Given the description of an element on the screen output the (x, y) to click on. 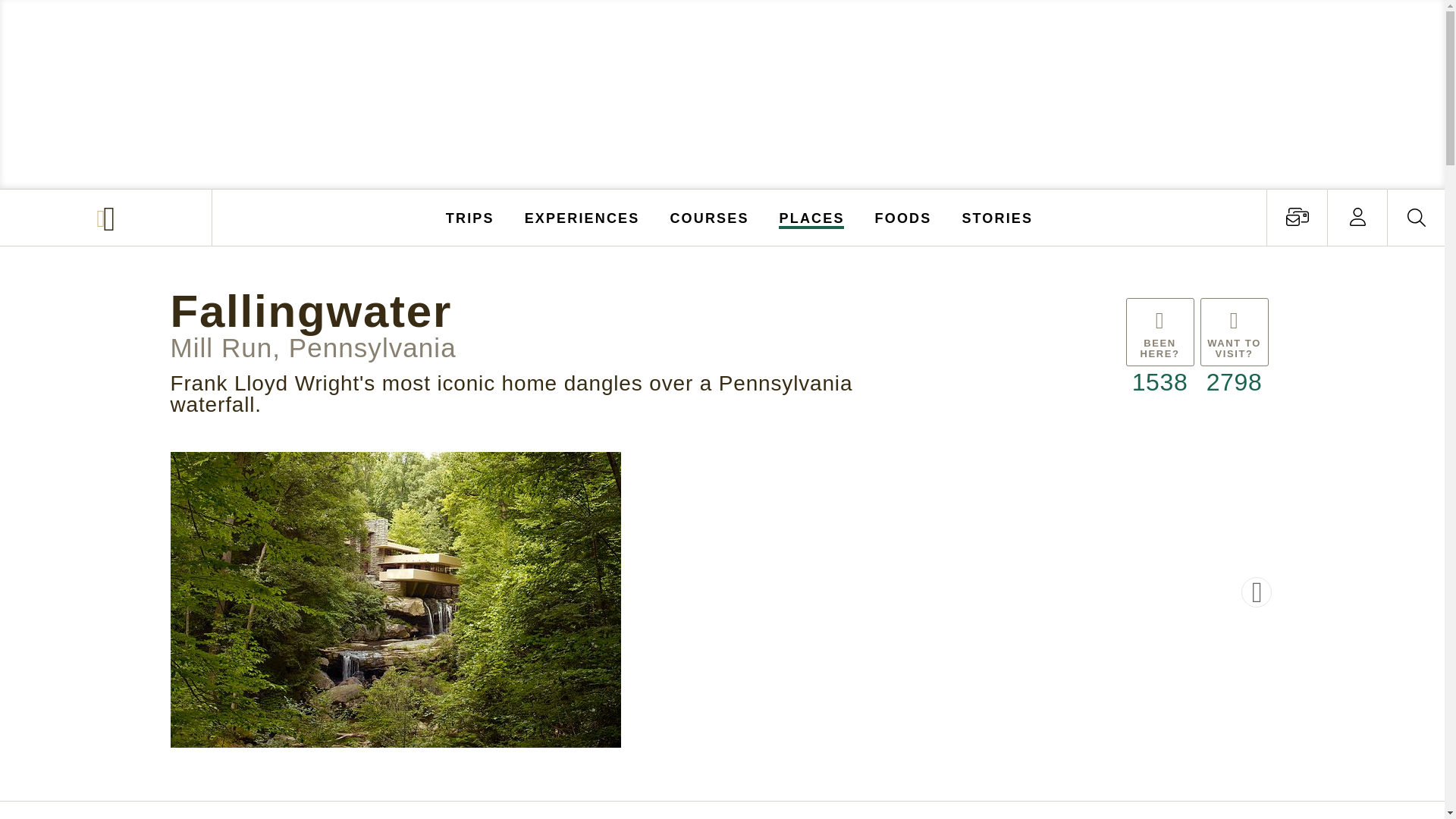
PLACES (812, 217)
COURSES (707, 217)
EXPERIENCES (582, 217)
TRIPS (469, 217)
